Given the description of an element on the screen output the (x, y) to click on. 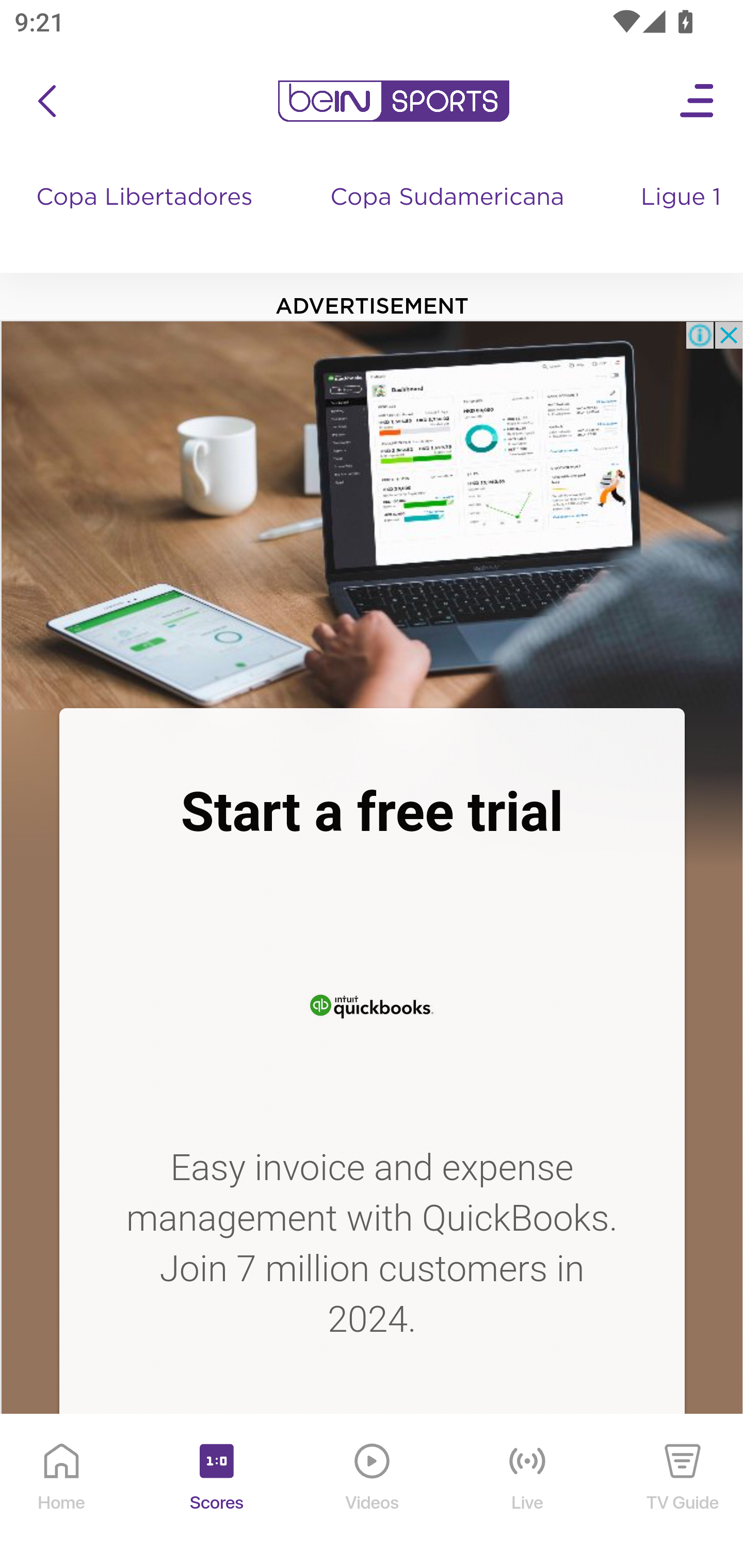
en-us?platform=mobile_android bein logo (392, 101)
icon back (46, 101)
Open Menu Icon (697, 101)
Copa Libertadores (146, 216)
Copa Sudamericana (448, 216)
Ligue 1 (682, 216)
%3Fcid%3Dppc_ROW_%7Bdscampaign%7D%26gclsrc%3Daw (371, 513)
Start a free trial (371, 812)
%3Fcid%3Dppc_ROW_%7Bdscampaign%7D%26gclsrc%3Daw (371, 1002)
%3Fcid%3Dppc_ROW_%7Bdscampaign%7D%26gclsrc%3Daw (371, 1480)
Home Home Icon Home (61, 1491)
Scores Scores Icon Scores (216, 1491)
Videos Videos Icon Videos (372, 1491)
TV Guide TV Guide Icon TV Guide (682, 1491)
